Given the description of an element on the screen output the (x, y) to click on. 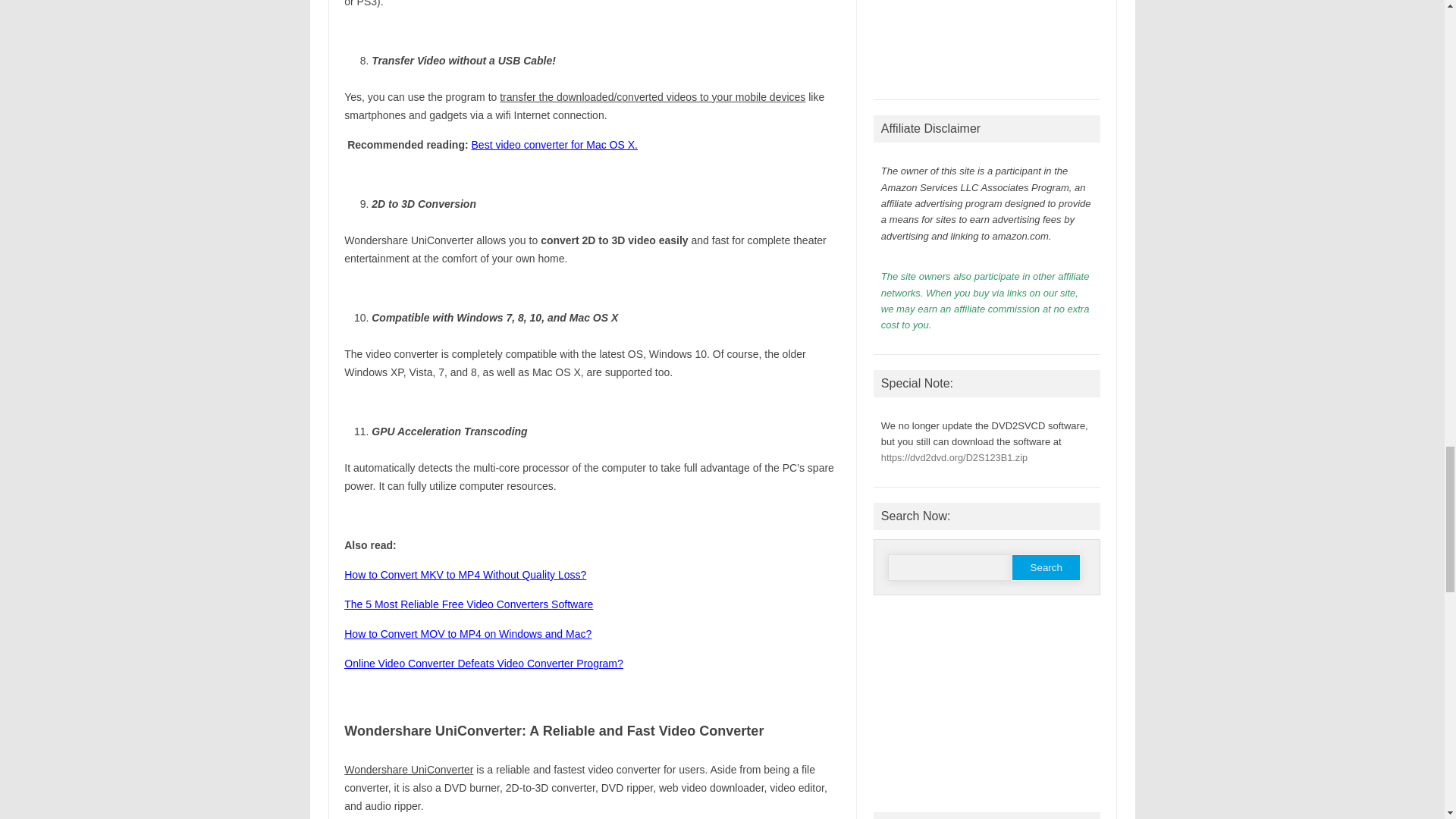
Search (1045, 567)
